Given the description of an element on the screen output the (x, y) to click on. 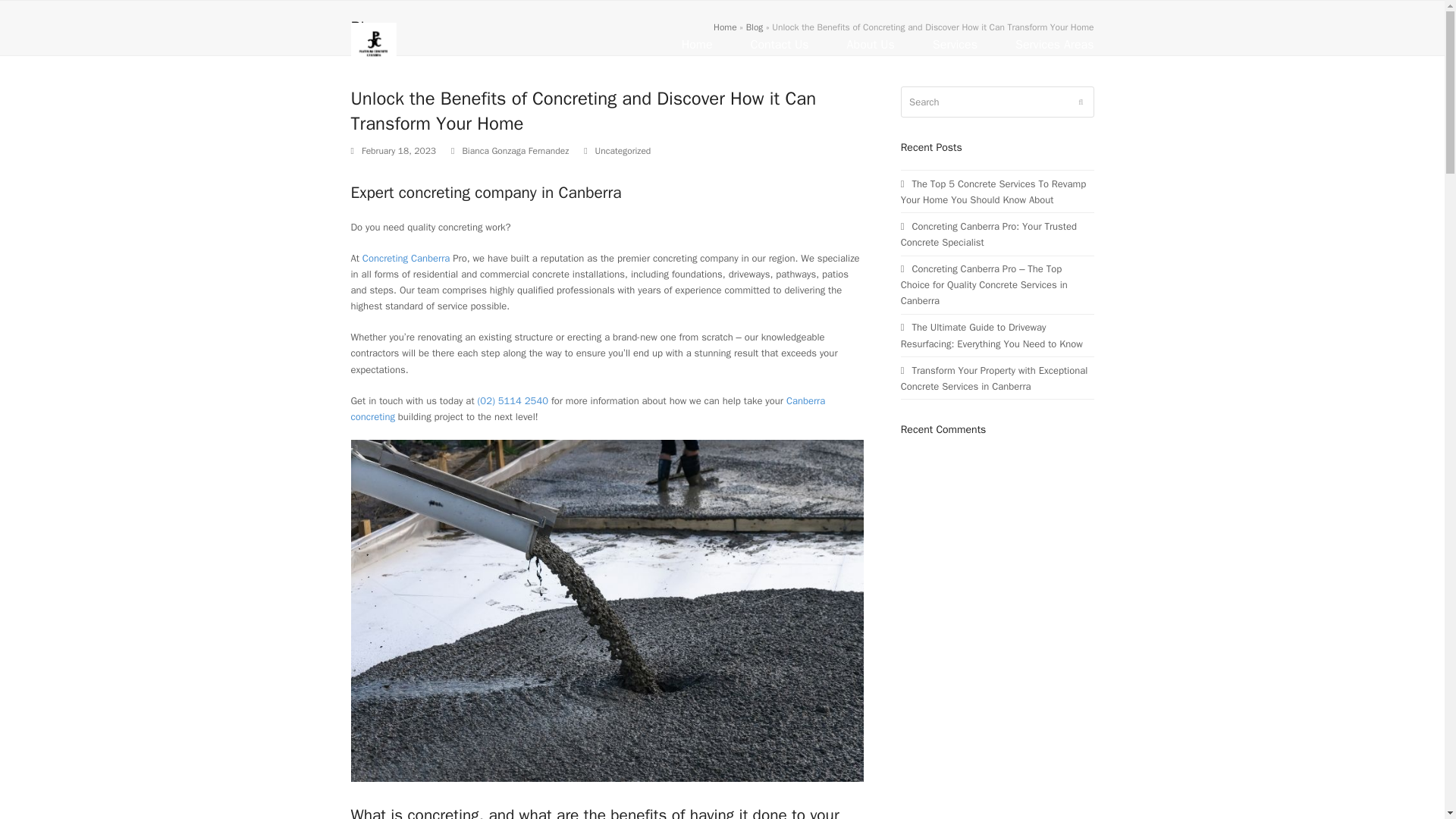
Home (696, 45)
Services (954, 45)
Posts by Bianca Gonzaga Fernandez (515, 150)
Contact Us (780, 45)
Services Areas (1054, 45)
About Us (870, 45)
Services (954, 45)
